Given the description of an element on the screen output the (x, y) to click on. 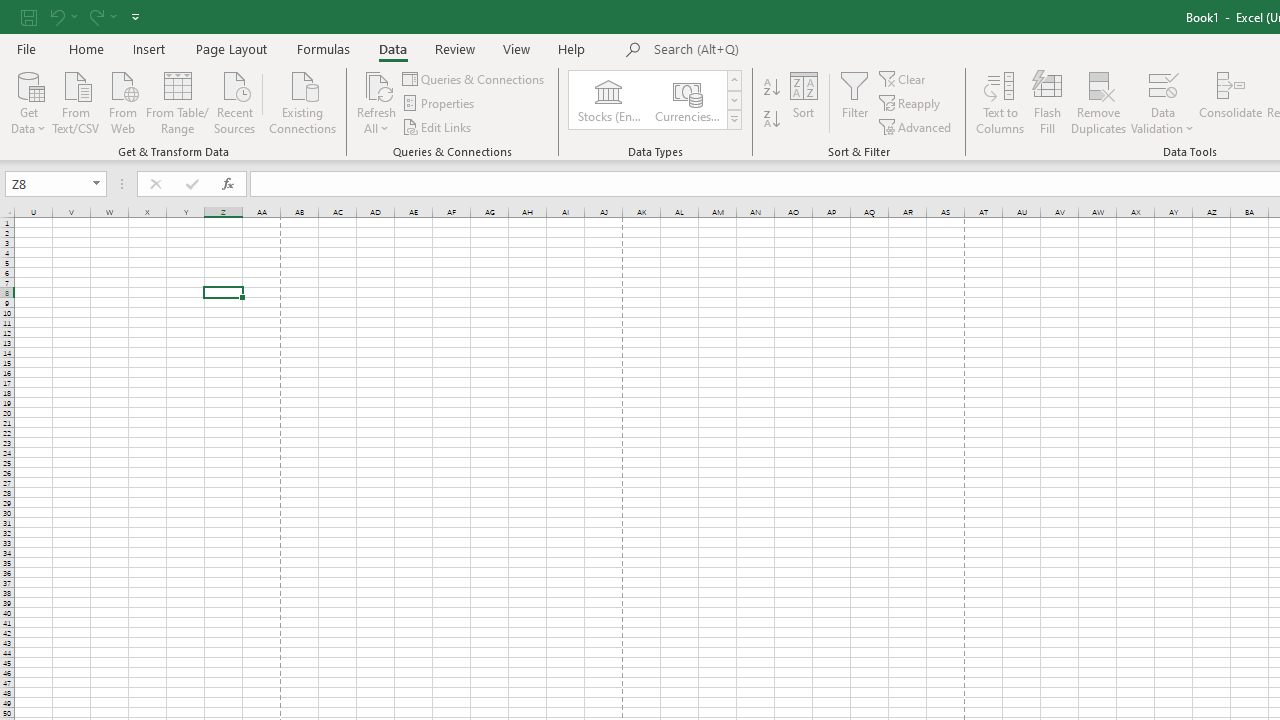
Consolidate... (1230, 102)
